Given the description of an element on the screen output the (x, y) to click on. 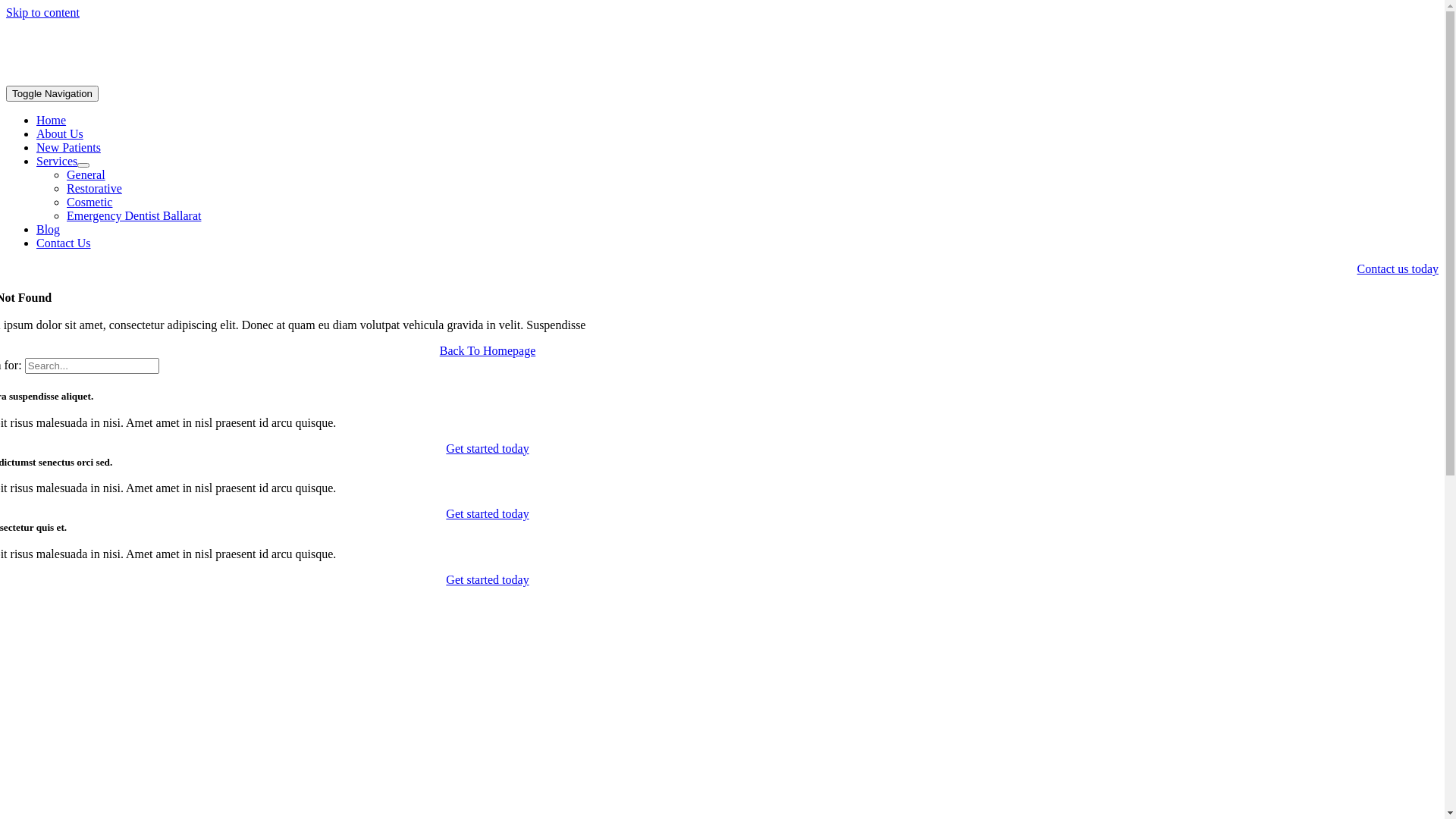
Back To Homepage Element type: text (487, 350)
Contact us today Element type: text (1397, 268)
Get started today Element type: text (486, 513)
Toggle Navigation Element type: text (52, 93)
About Us Element type: text (59, 133)
Contact Us Element type: text (63, 242)
Emergency Dentist Ballarat Element type: text (133, 215)
Get started today Element type: text (486, 448)
New Patients Element type: text (68, 147)
Cosmetic Element type: text (89, 201)
Get started today Element type: text (486, 579)
Skip to content Element type: text (42, 12)
Restorative Element type: text (94, 188)
Services Element type: text (56, 160)
Blog Element type: text (47, 228)
Home Element type: text (50, 119)
General Element type: text (85, 174)
